Given the description of an element on the screen output the (x, y) to click on. 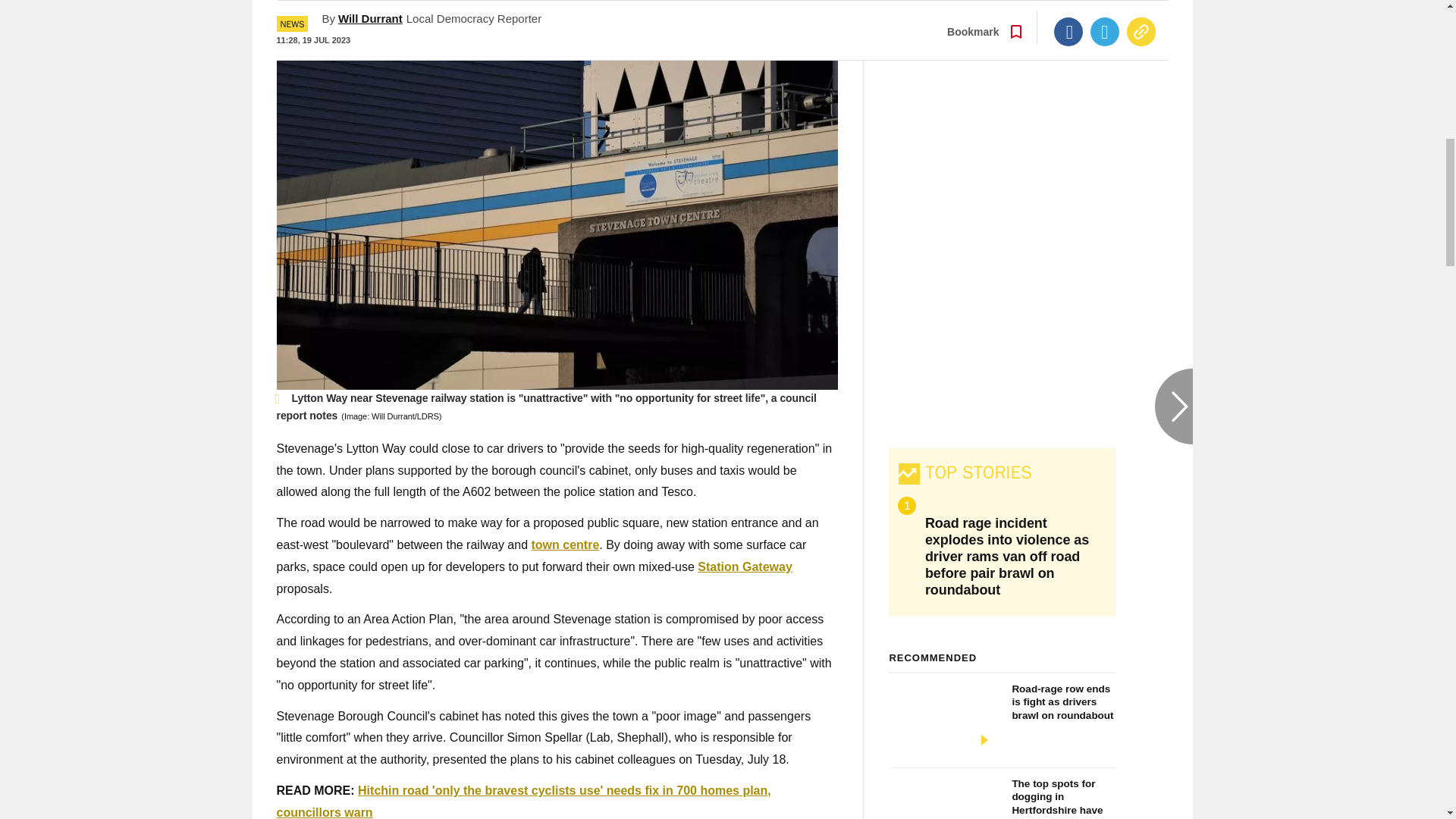
Go (423, 7)
